Given the description of an element on the screen output the (x, y) to click on. 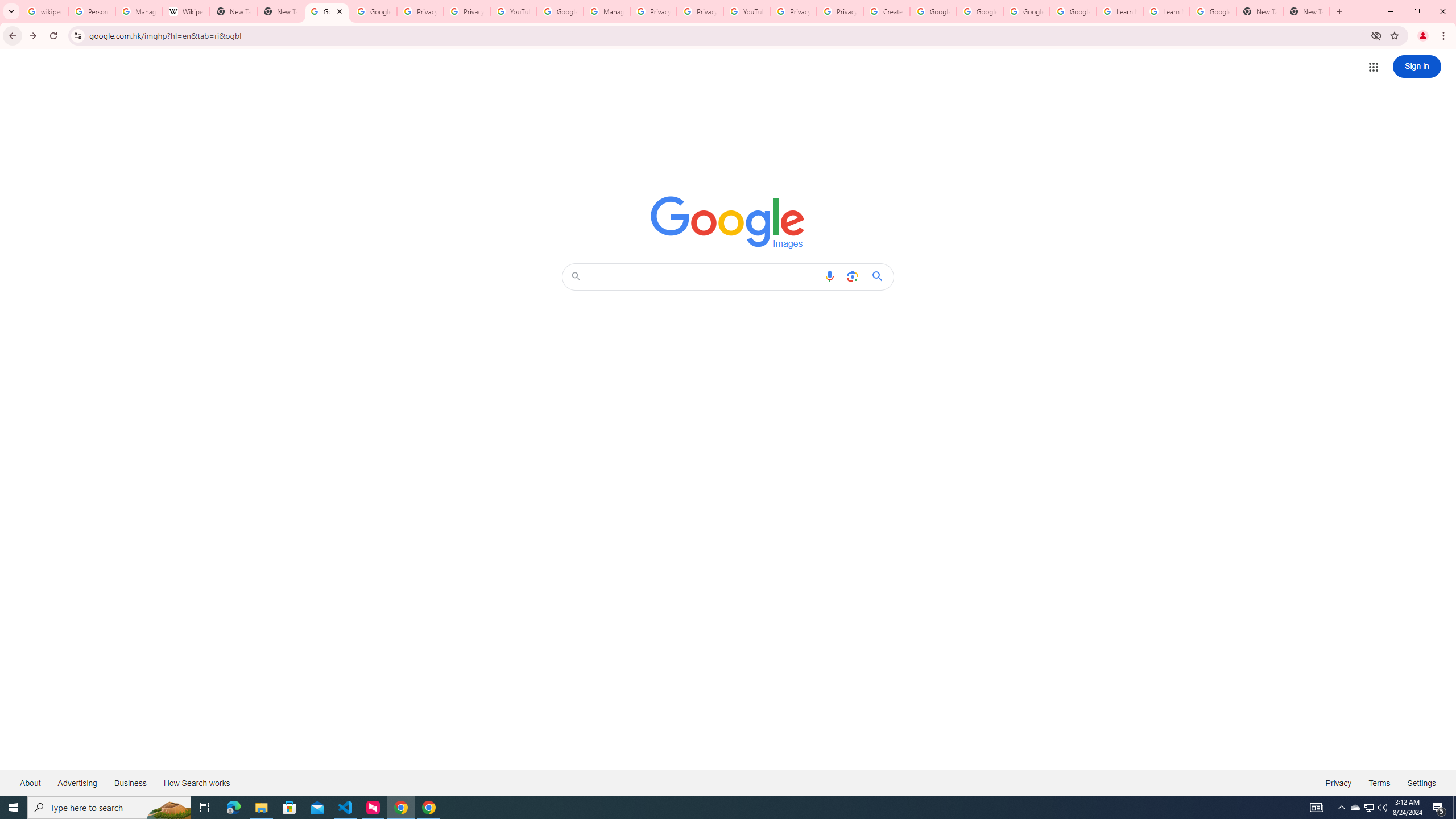
Google Account (1213, 11)
Google Search (880, 276)
Wikipedia:Edit requests - Wikipedia (186, 11)
Create your Google Account (886, 11)
New Tab (1259, 11)
Google Drive: Sign-in (373, 11)
Advertising (77, 782)
Google Account Help (559, 11)
